Given the description of an element on the screen output the (x, y) to click on. 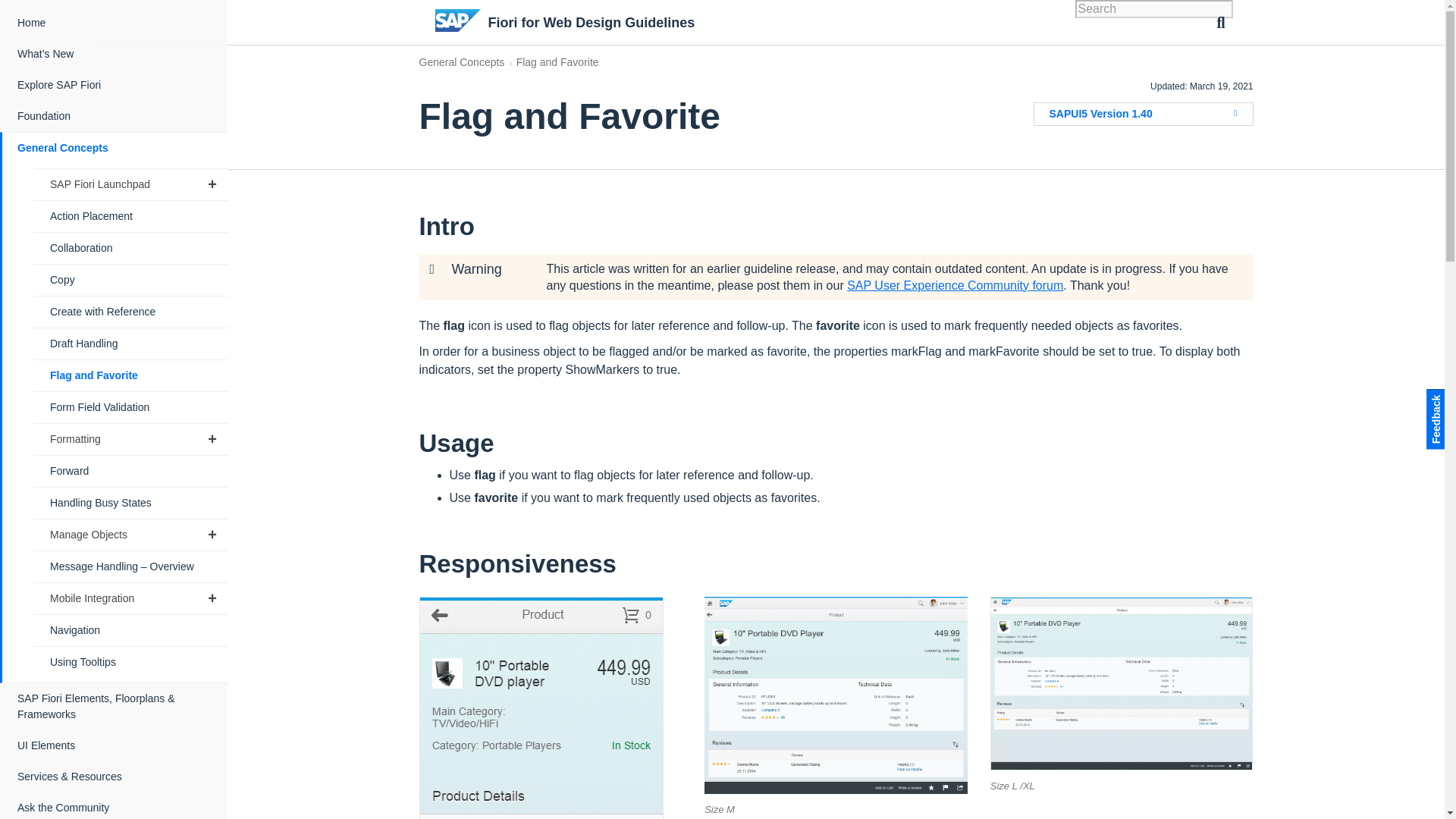
Explore SAP Fiori (114, 84)
Action Placement (130, 215)
Formatting (130, 439)
Form Field Validation (130, 407)
Create with Reference (130, 311)
Draft Handling (130, 343)
SAP Fiori Launchpad (130, 183)
General Concepts (114, 147)
Copy (130, 279)
Home (114, 22)
